Given the description of an element on the screen output the (x, y) to click on. 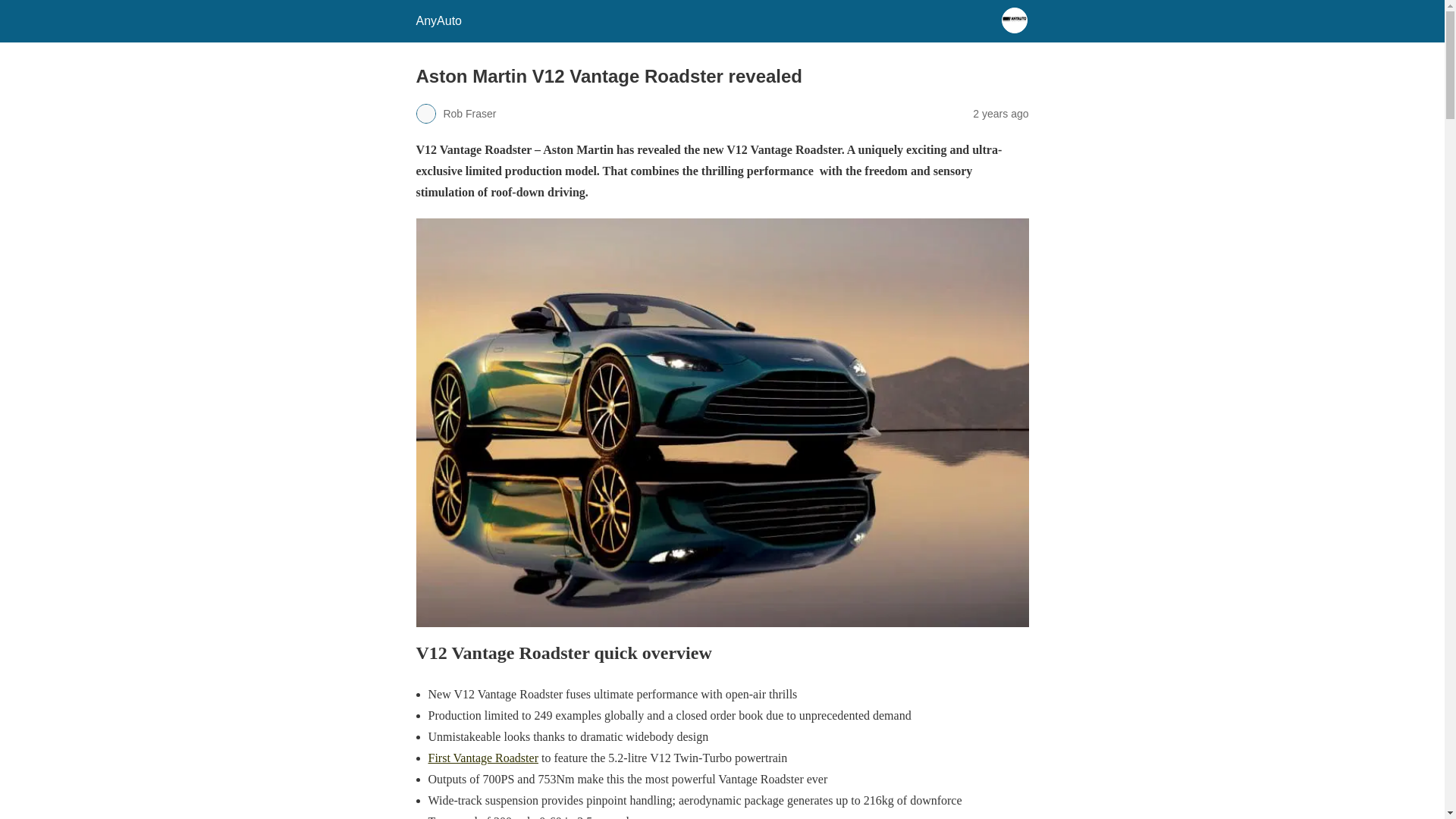
First Vantage Roadster (482, 757)
AnyAuto (437, 20)
